Given the description of an element on the screen output the (x, y) to click on. 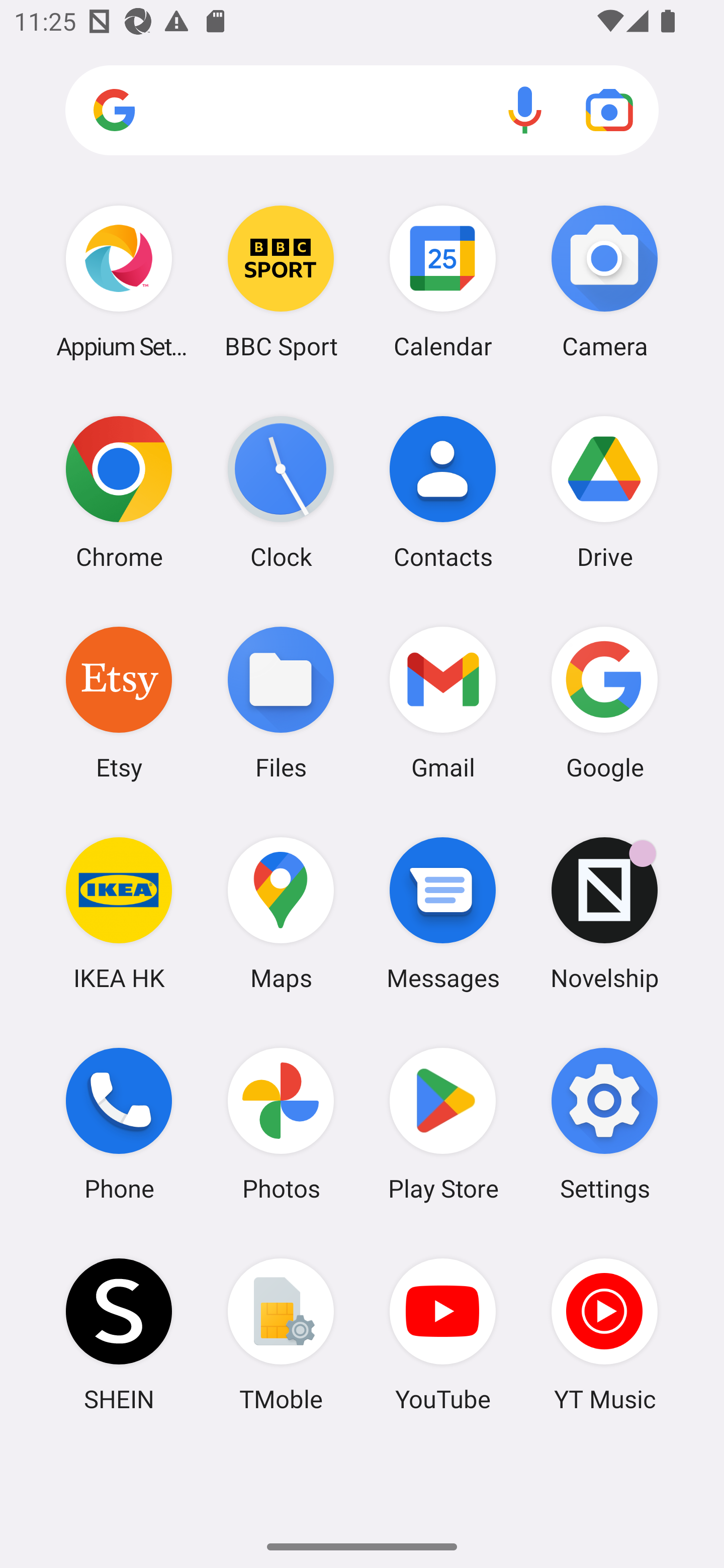
Search apps, web and more (361, 110)
Voice search (524, 109)
Google Lens (608, 109)
Appium Settings (118, 281)
BBC Sport (280, 281)
Calendar (443, 281)
Camera (604, 281)
Chrome (118, 492)
Clock (280, 492)
Contacts (443, 492)
Drive (604, 492)
Etsy (118, 702)
Files (280, 702)
Gmail (443, 702)
Google (604, 702)
IKEA HK (118, 913)
Maps (280, 913)
Messages (443, 913)
Novelship Novelship has 5 notifications (604, 913)
Phone (118, 1124)
Photos (280, 1124)
Play Store (443, 1124)
Settings (604, 1124)
SHEIN (118, 1334)
TMoble (280, 1334)
YouTube (443, 1334)
YT Music (604, 1334)
